Given the description of an element on the screen output the (x, y) to click on. 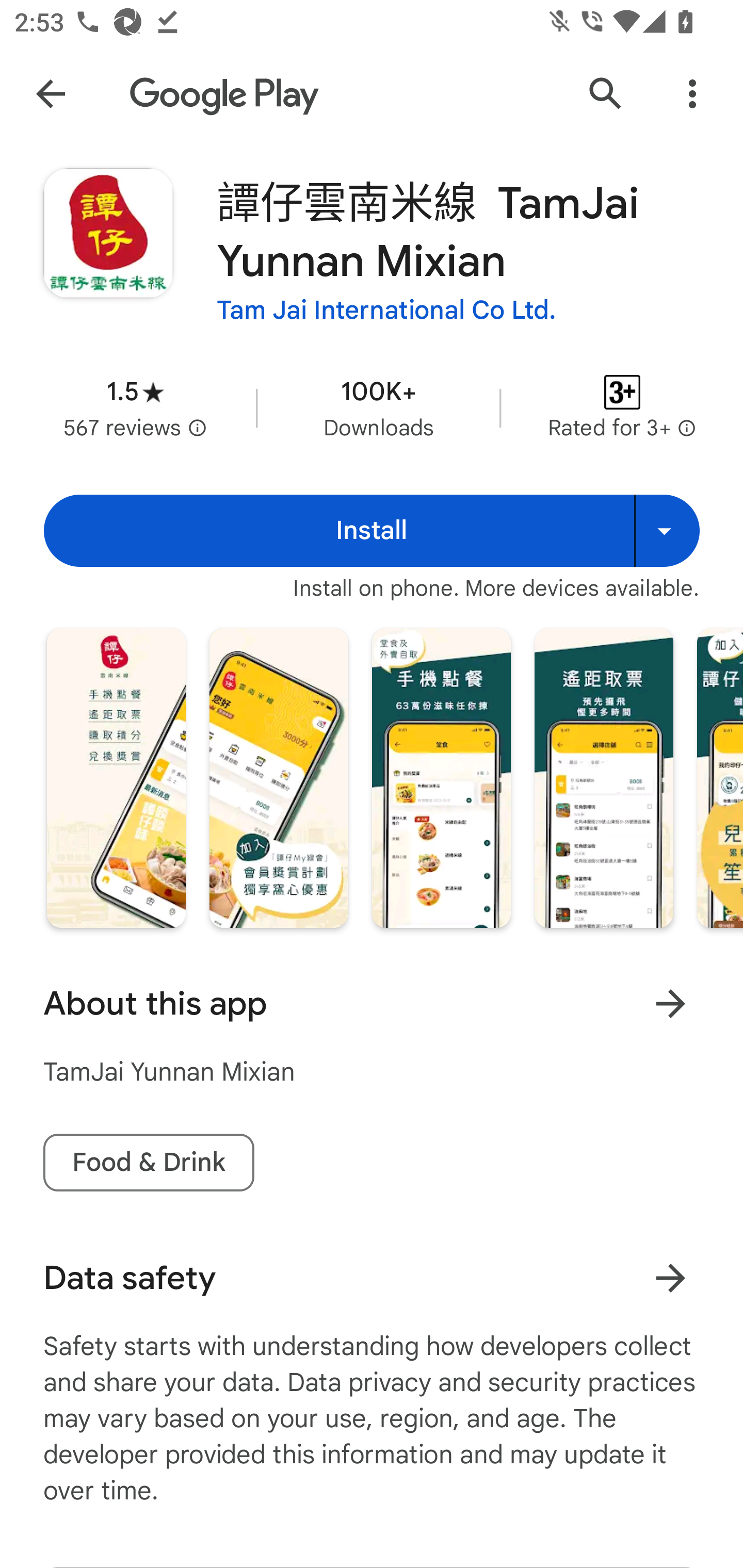
Navigate up (50, 93)
Search Google Play (605, 93)
More Options (692, 93)
Tam Jai International Co Ltd. (386, 310)
Average rating 1.5 stars in 567 reviews (135, 407)
Content rating Rated for 3+ (622, 407)
Install Install Install on more devices (371, 530)
Install on more devices (667, 530)
Screenshot "1" of "5" (115, 778)
Screenshot "2" of "5" (278, 778)
Screenshot "3" of "5" (441, 778)
Screenshot "4" of "5" (603, 778)
About this app Learn more About this app (371, 1003)
Learn more About this app (670, 1003)
Food & Drink tag (148, 1162)
Data safety Learn more about data safety (371, 1277)
Learn more about data safety (670, 1278)
